Given the description of an element on the screen output the (x, y) to click on. 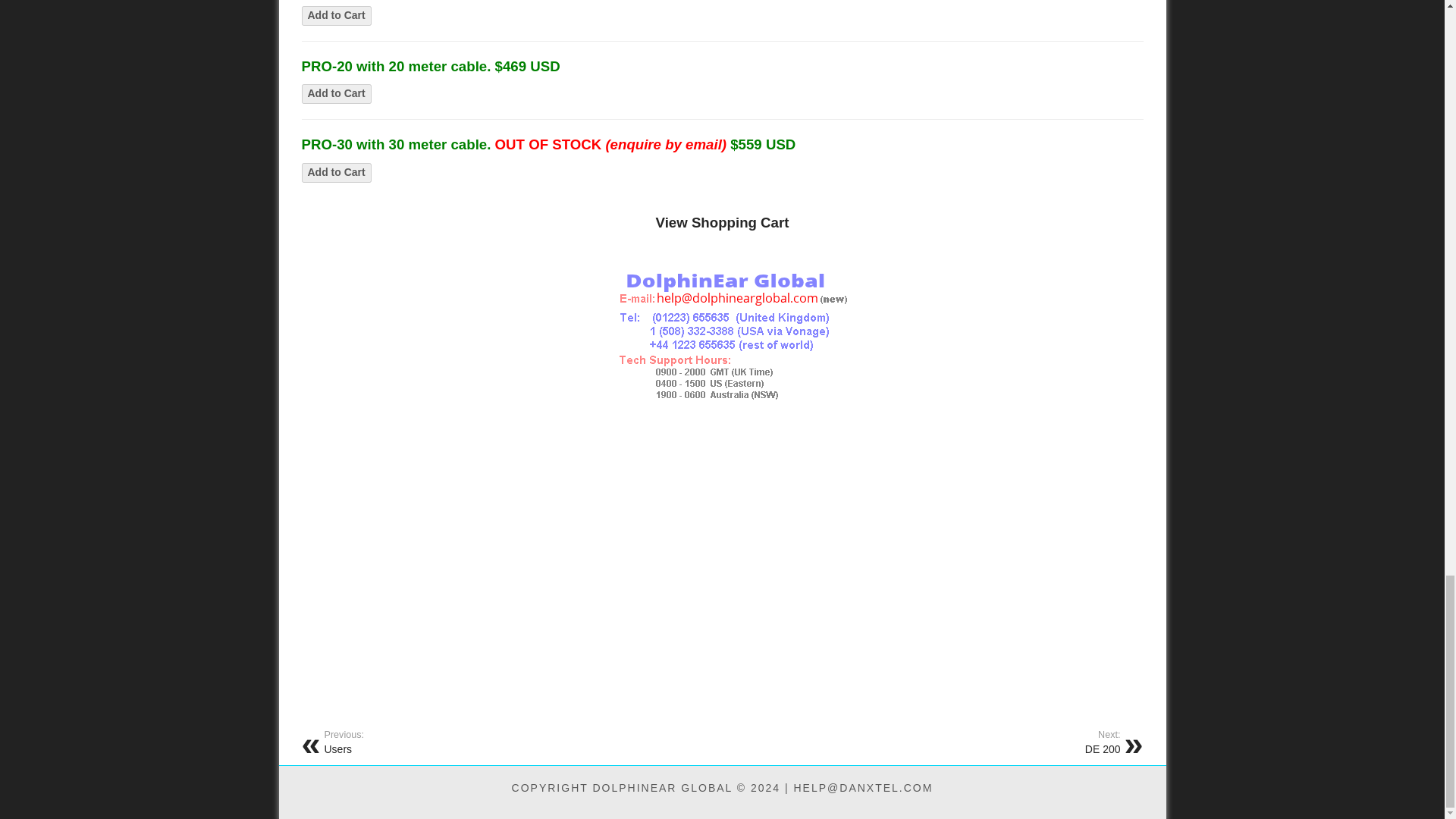
Add to Cart (336, 15)
Add to Cart (336, 94)
Add to Cart (336, 172)
